Given the description of an element on the screen output the (x, y) to click on. 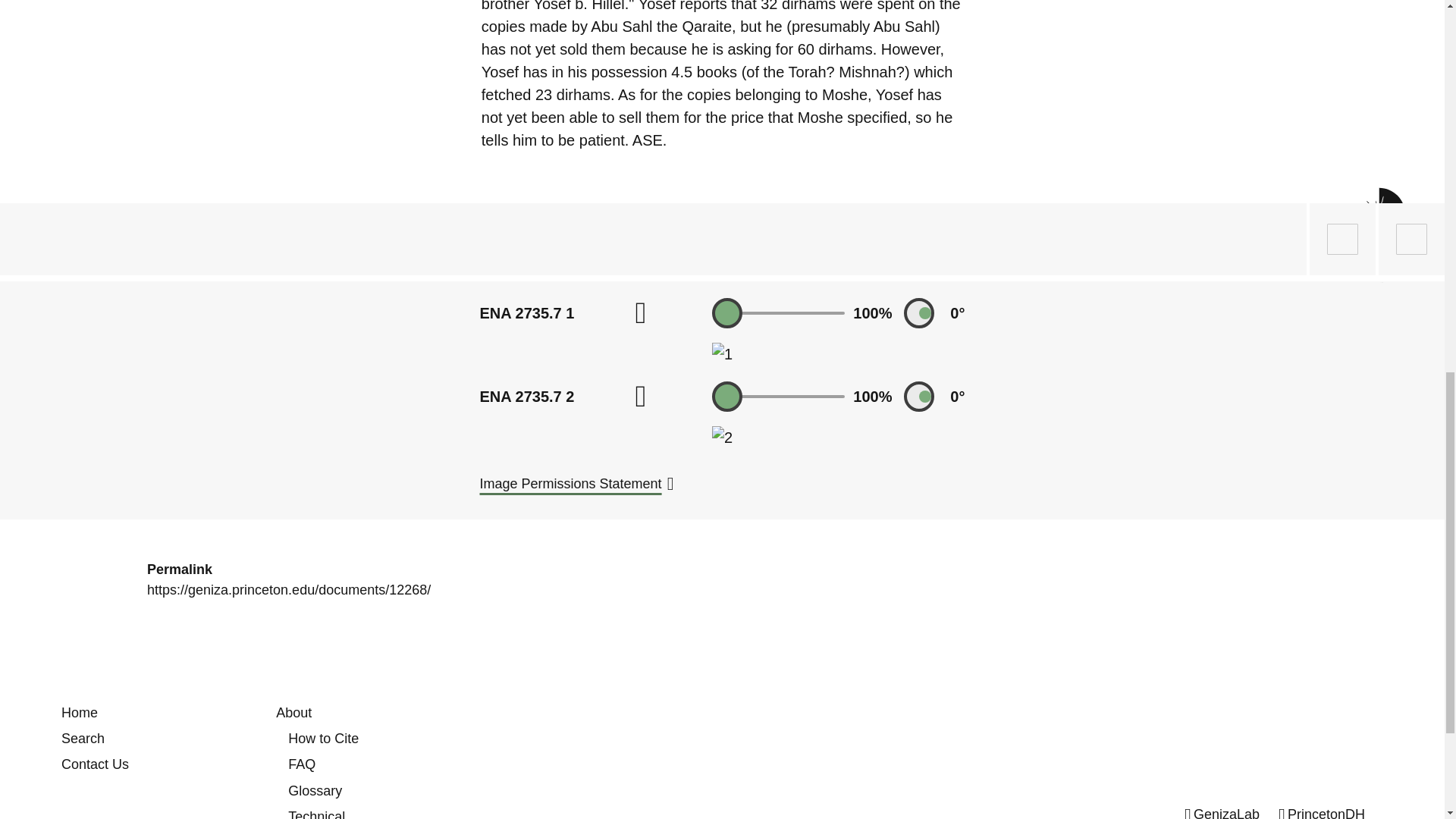
GenizaLab (1222, 812)
2 (721, 436)
Contact Us (95, 764)
Technical (316, 814)
PrincetonDH (1321, 812)
1 (777, 313)
Glossary (315, 790)
How to Cite (323, 738)
